Given the description of an element on the screen output the (x, y) to click on. 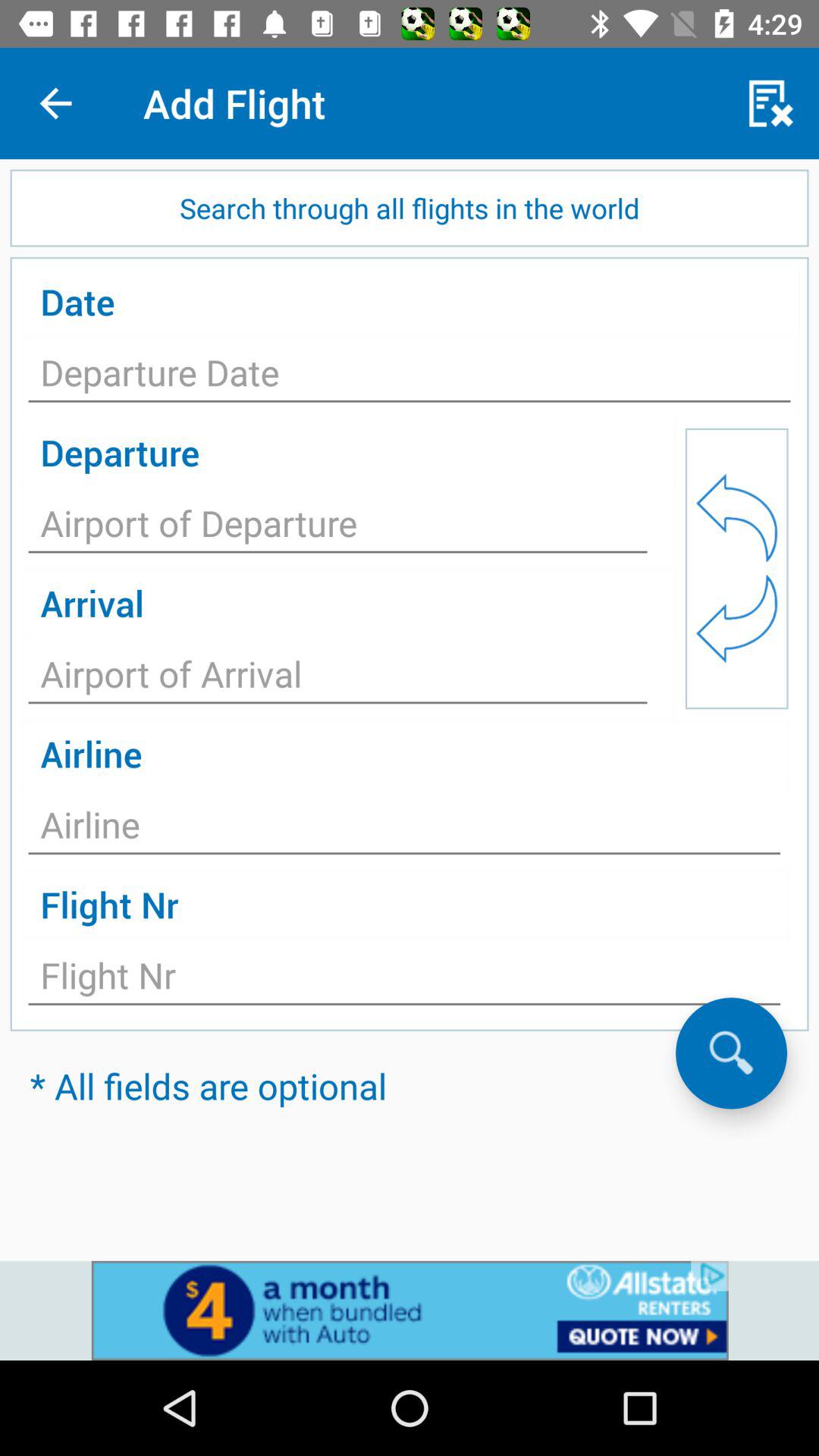
depart from a given point of origin (337, 527)
